Given the description of an element on the screen output the (x, y) to click on. 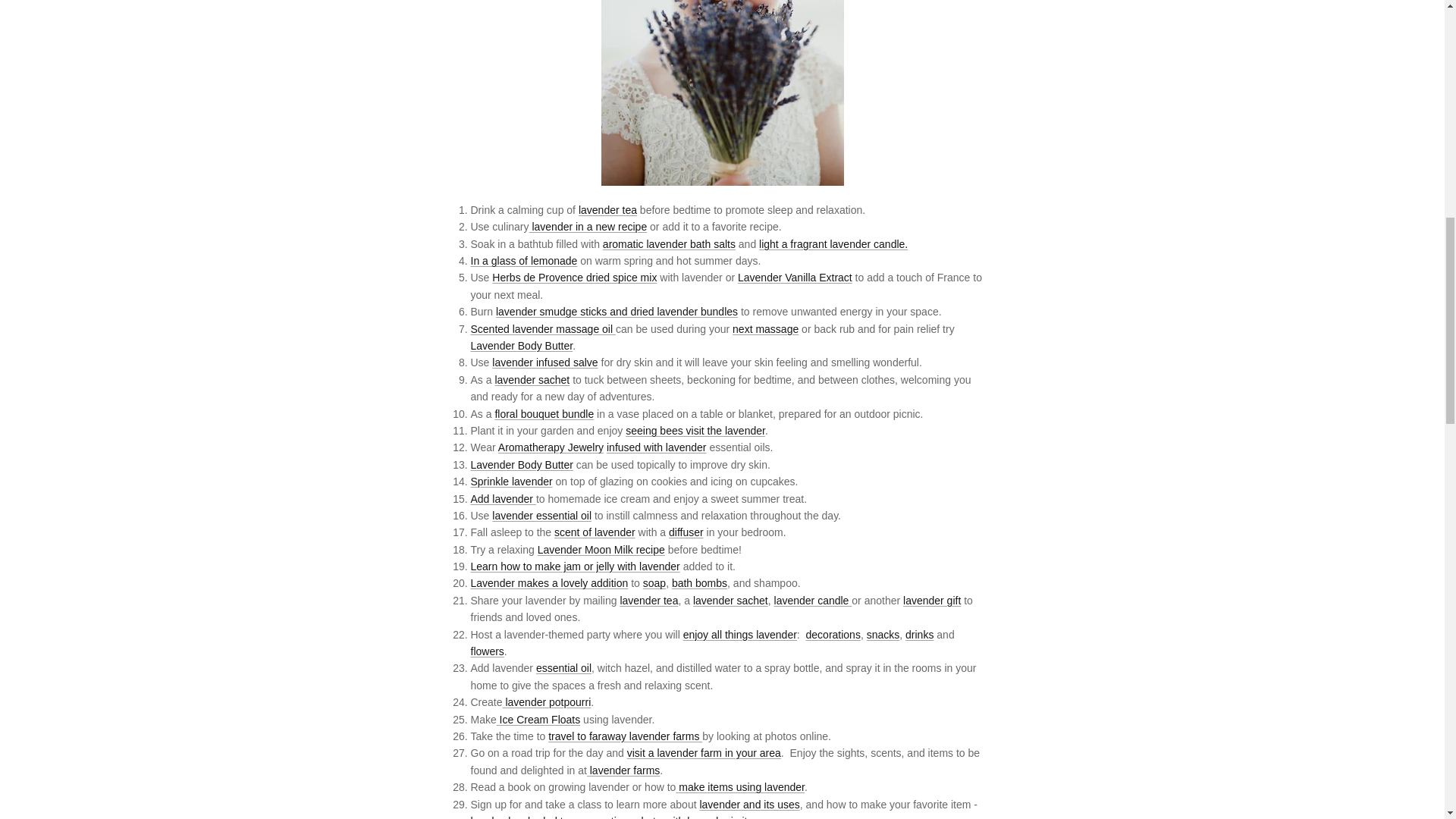
Extract (794, 277)
Dried Lavender (502, 499)
Dried Lavender (510, 481)
Lavender Lemonade Mix (523, 260)
Lavender Bundle (544, 413)
Aromatherapy Jewelry (550, 447)
Massage Wand (764, 328)
Lavender Collection (695, 430)
Cooking with Lavender (588, 226)
Lavender Massage Oil (542, 328)
